Given the description of an element on the screen output the (x, y) to click on. 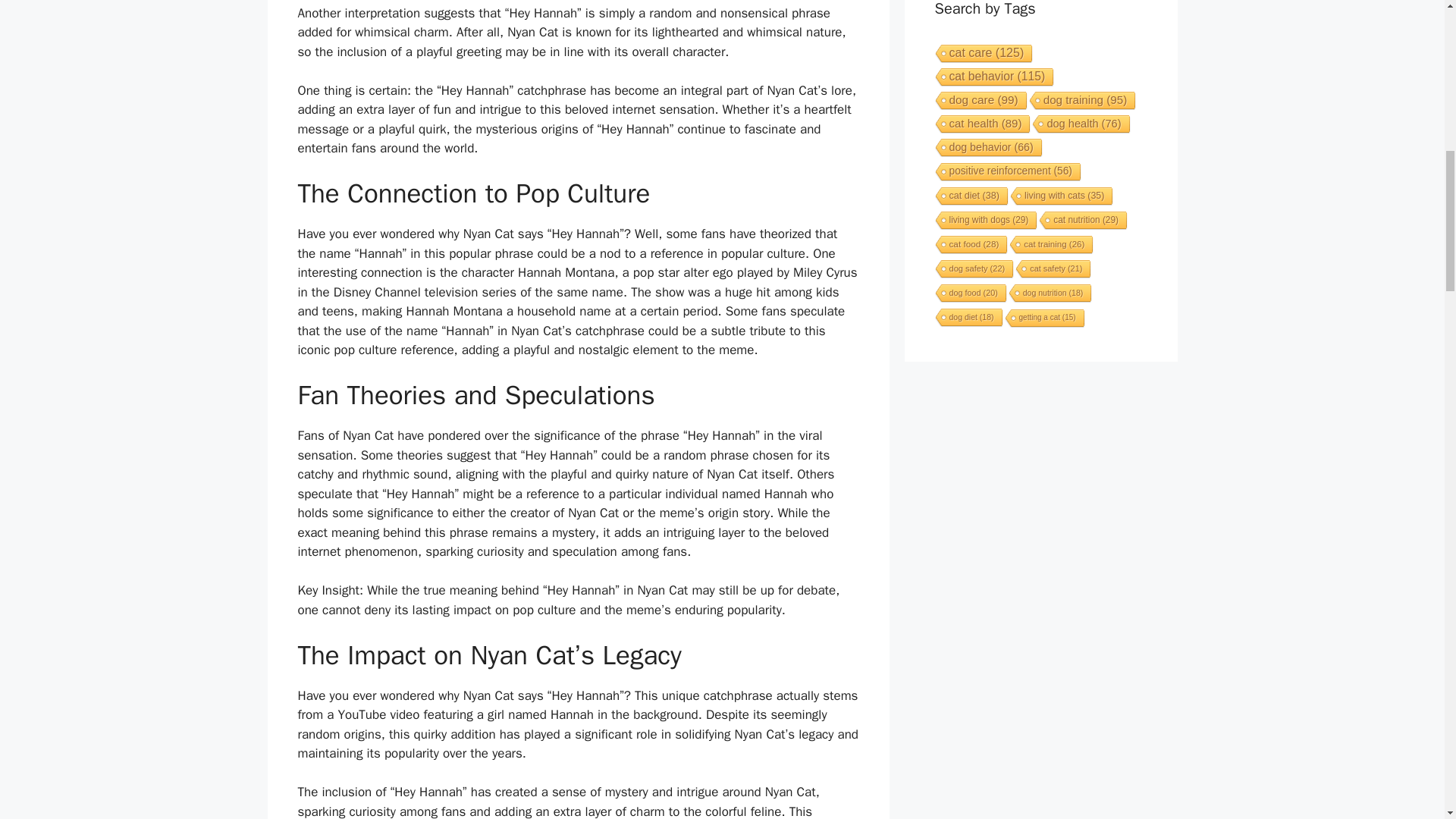
Scroll back to top (1406, 720)
